Given the description of an element on the screen output the (x, y) to click on. 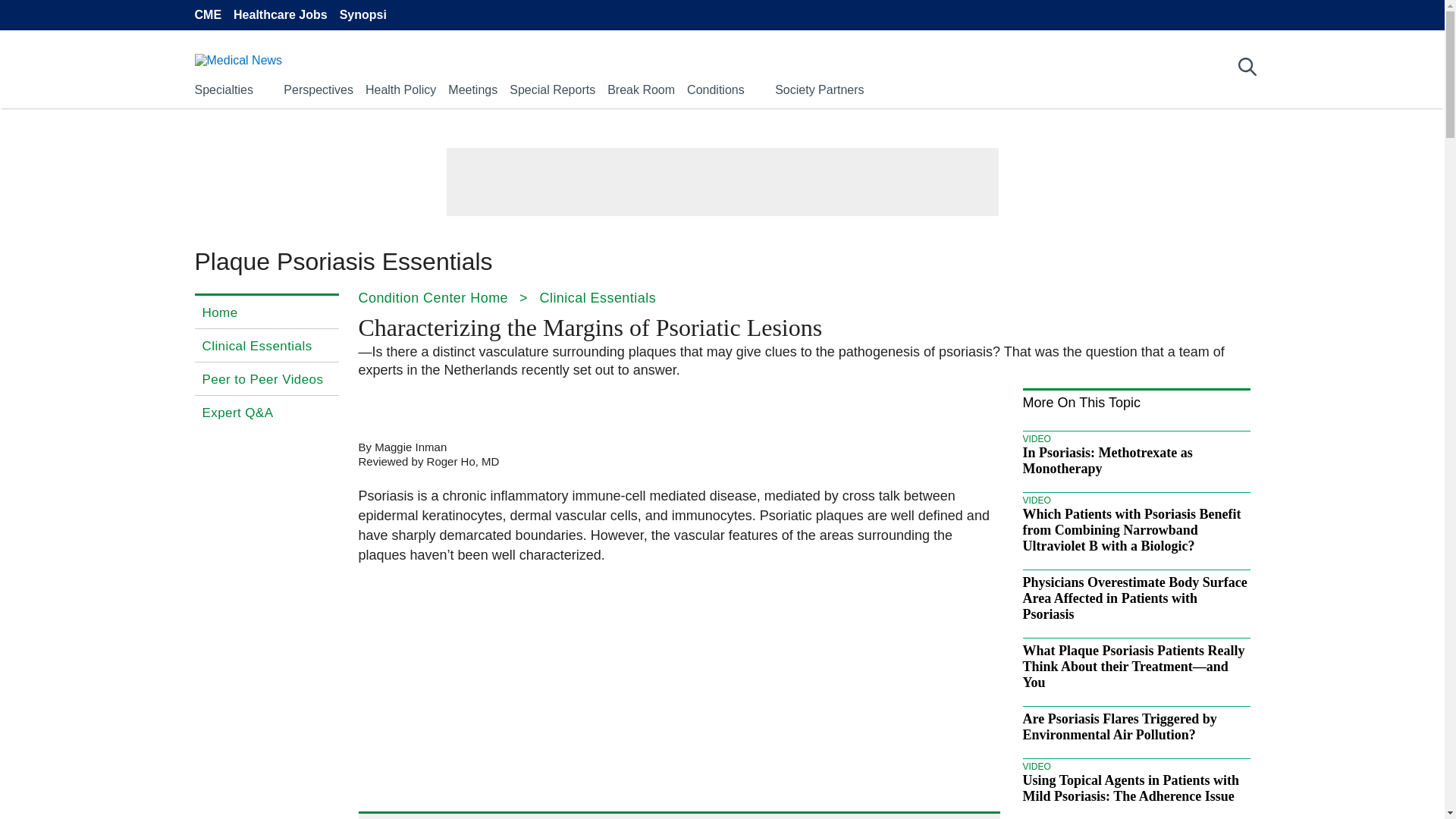
Share on X. Opens in a new tab or window (413, 405)
Specialties (222, 89)
Share on Facebook. Opens in a new tab or window (369, 405)
Synopsi (363, 15)
Healthcare Jobs (279, 15)
CME (207, 15)
Share on LinkedIn. Opens in a new tab or window (456, 405)
